Given the description of an element on the screen output the (x, y) to click on. 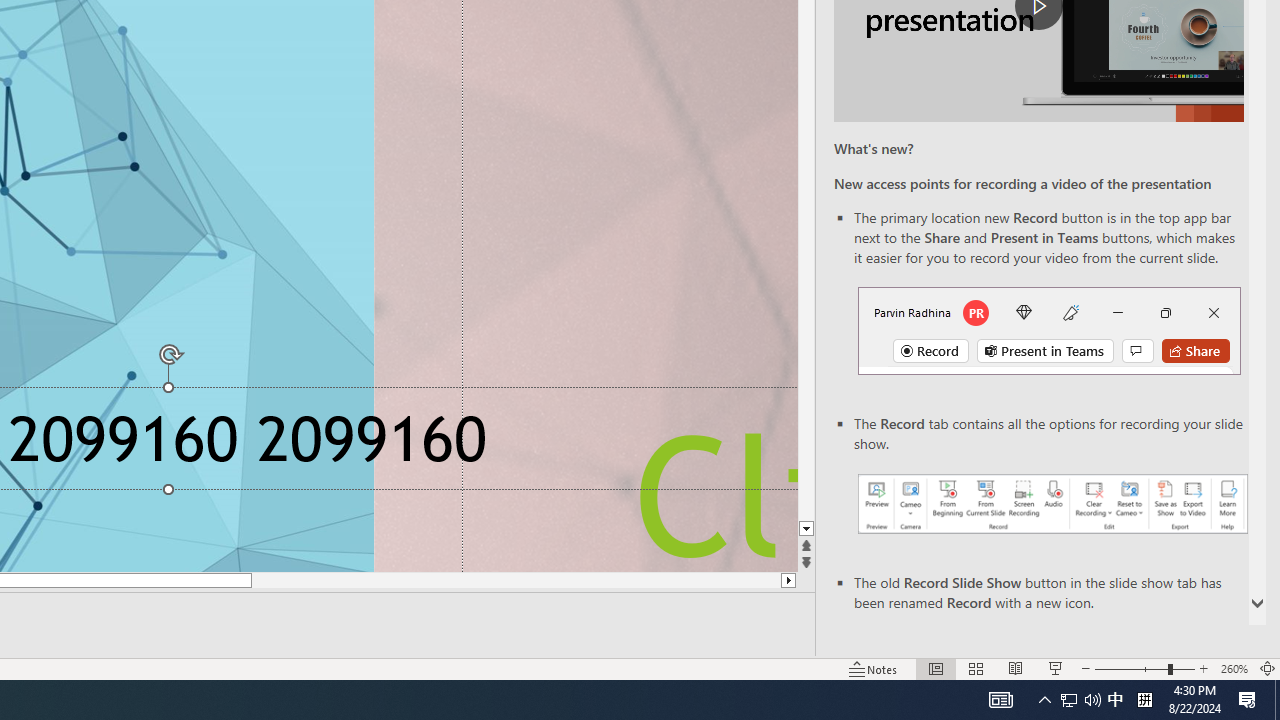
Record button in top bar (1049, 331)
Record your presentations screenshot one (1052, 503)
Zoom 260% (1234, 668)
